Given the description of an element on the screen output the (x, y) to click on. 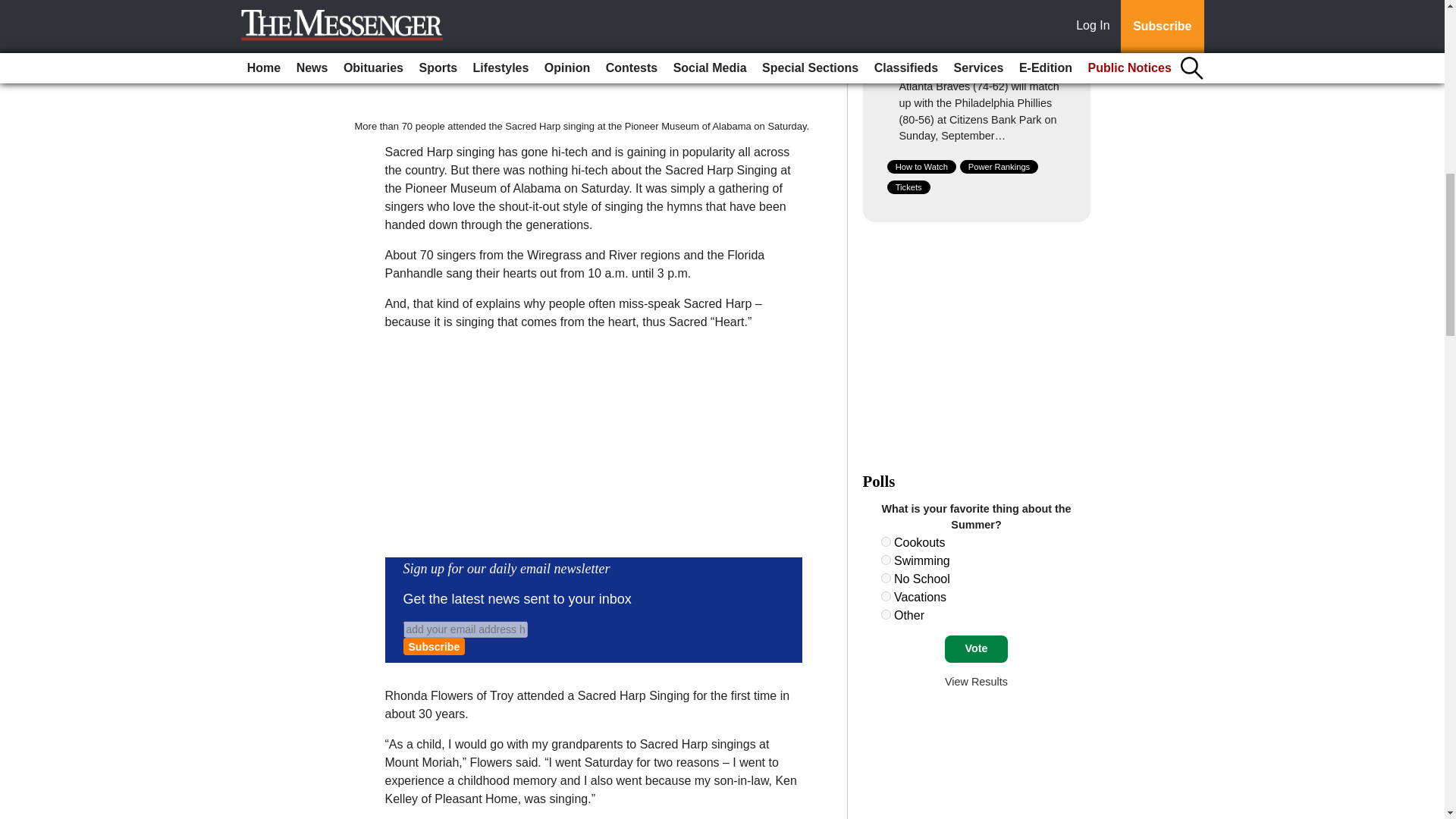
View Results Of This Poll (975, 681)
websinging (582, 59)
7275 (885, 560)
7276 (885, 578)
Subscribe (434, 646)
7277 (885, 596)
7274 (885, 542)
   Vote    (975, 648)
7278 (885, 614)
